Given the description of an element on the screen output the (x, y) to click on. 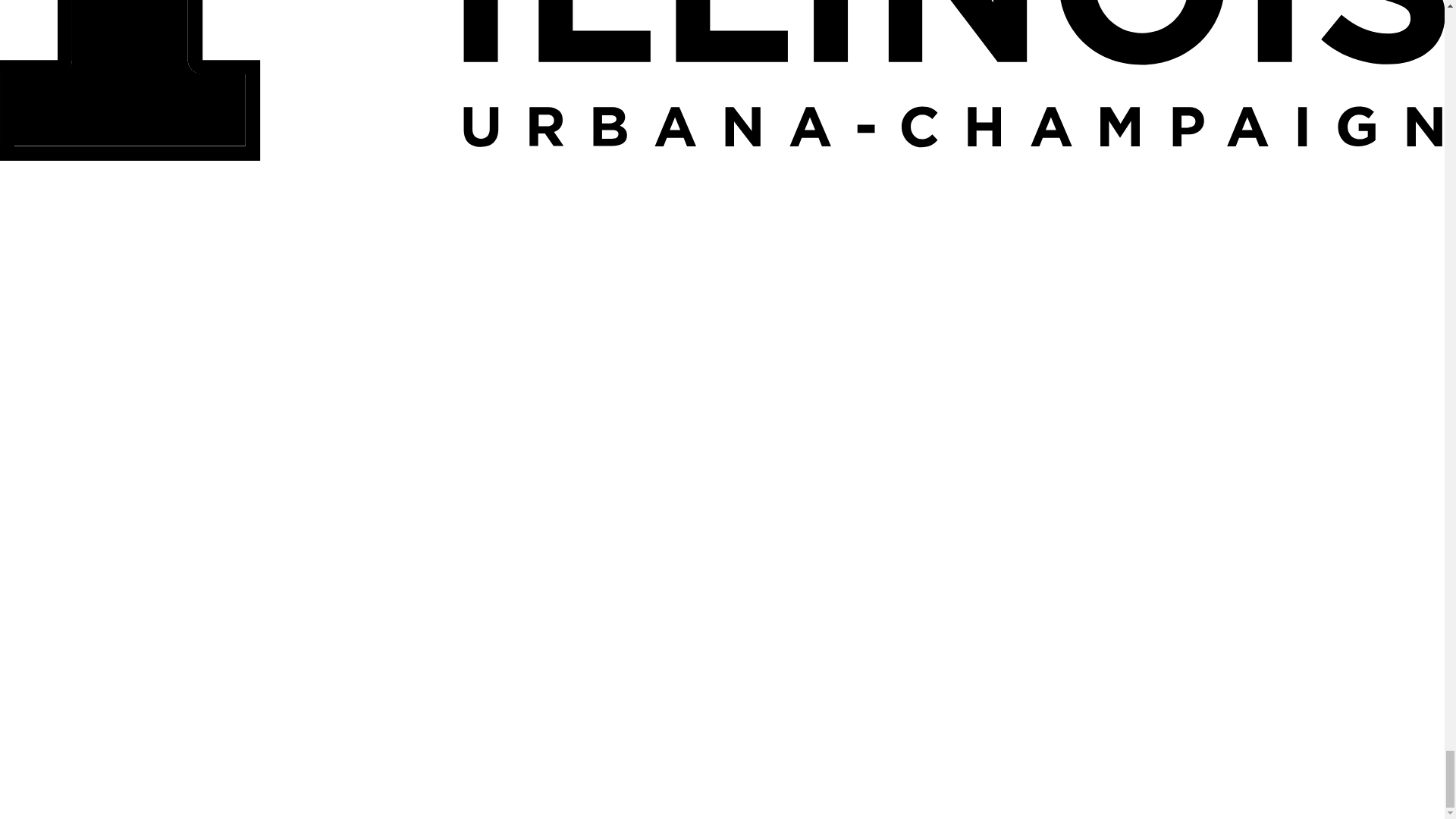
Illinois Extension (74, 177)
